Given the description of an element on the screen output the (x, y) to click on. 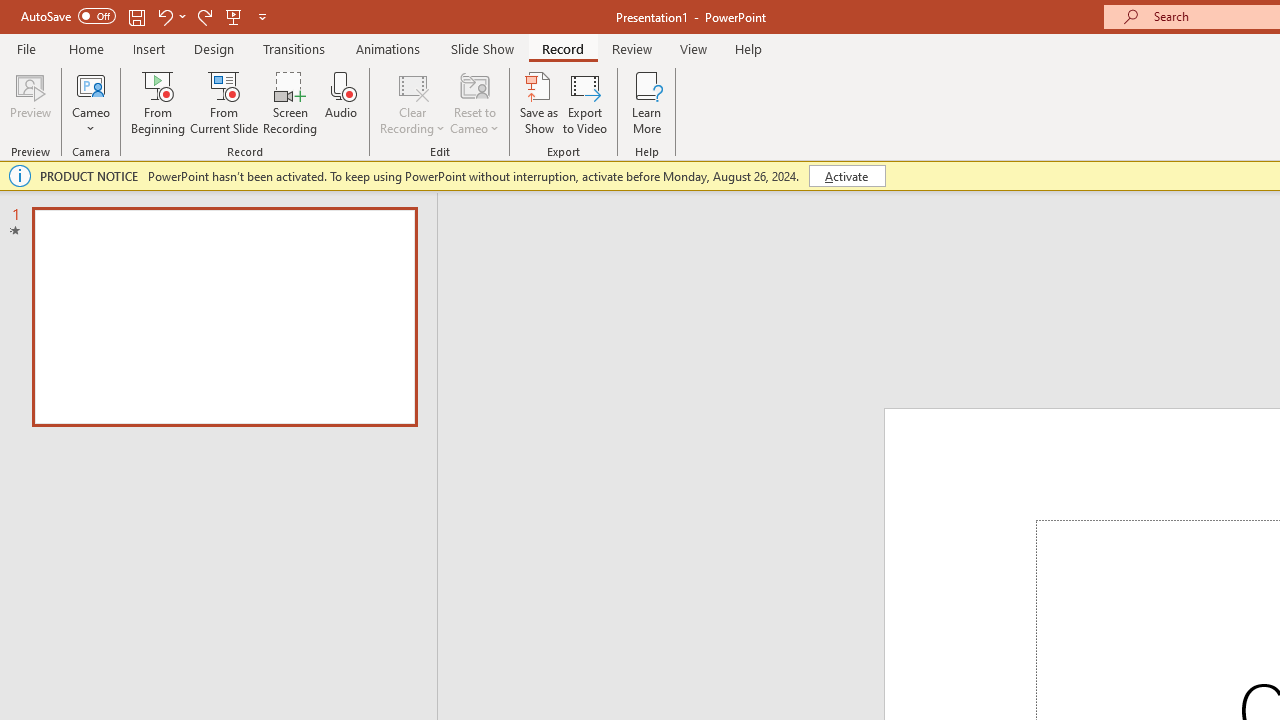
Activate (846, 175)
